Given the description of an element on the screen output the (x, y) to click on. 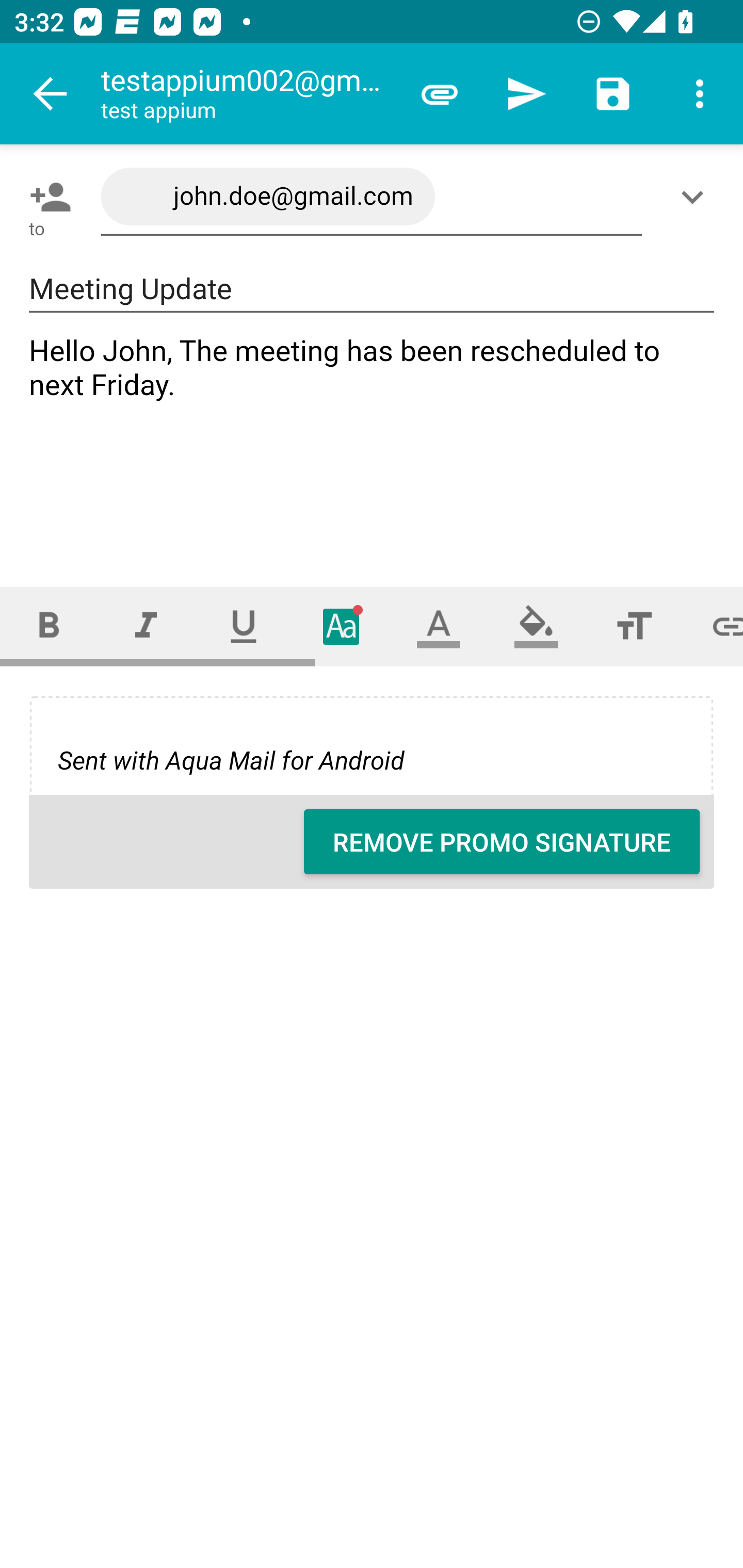
Navigate up (50, 93)
testappium002@gmail.com test appium (248, 93)
Attach (439, 93)
Send (525, 93)
Save (612, 93)
More options (699, 93)
john.doe@gmail.com,  (371, 197)
Pick contact: To (46, 196)
Show/Add CC/BCC (696, 196)
Meeting Update (371, 288)
Bold (48, 626)
Italic (145, 626)
Underline (243, 626)
Typeface (font) (341, 626)
Text color (438, 626)
Fill color (536, 626)
Font size (633, 626)
Set link (712, 626)
REMOVE PROMO SIGNATURE (501, 841)
